Given the description of an element on the screen output the (x, y) to click on. 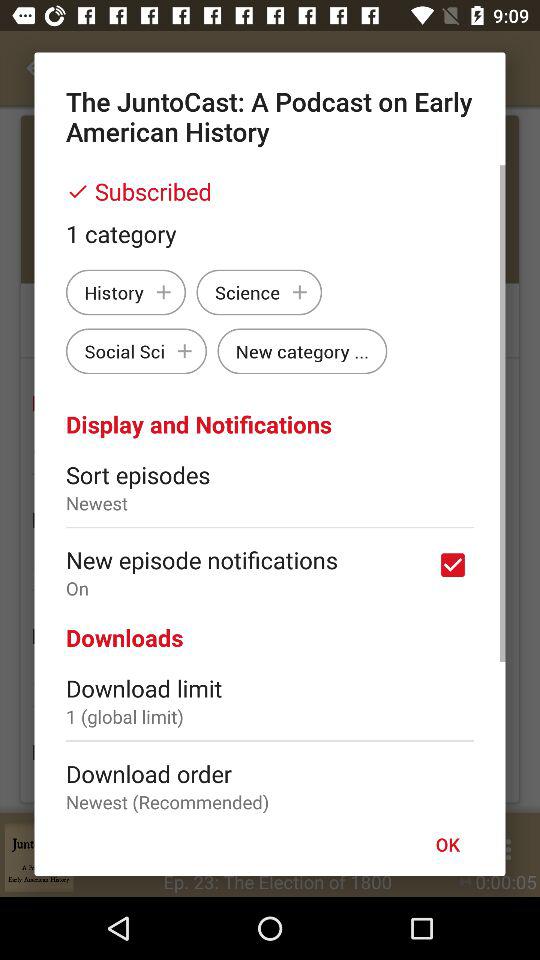
swipe to subscribed icon (269, 191)
